Given the description of an element on the screen output the (x, y) to click on. 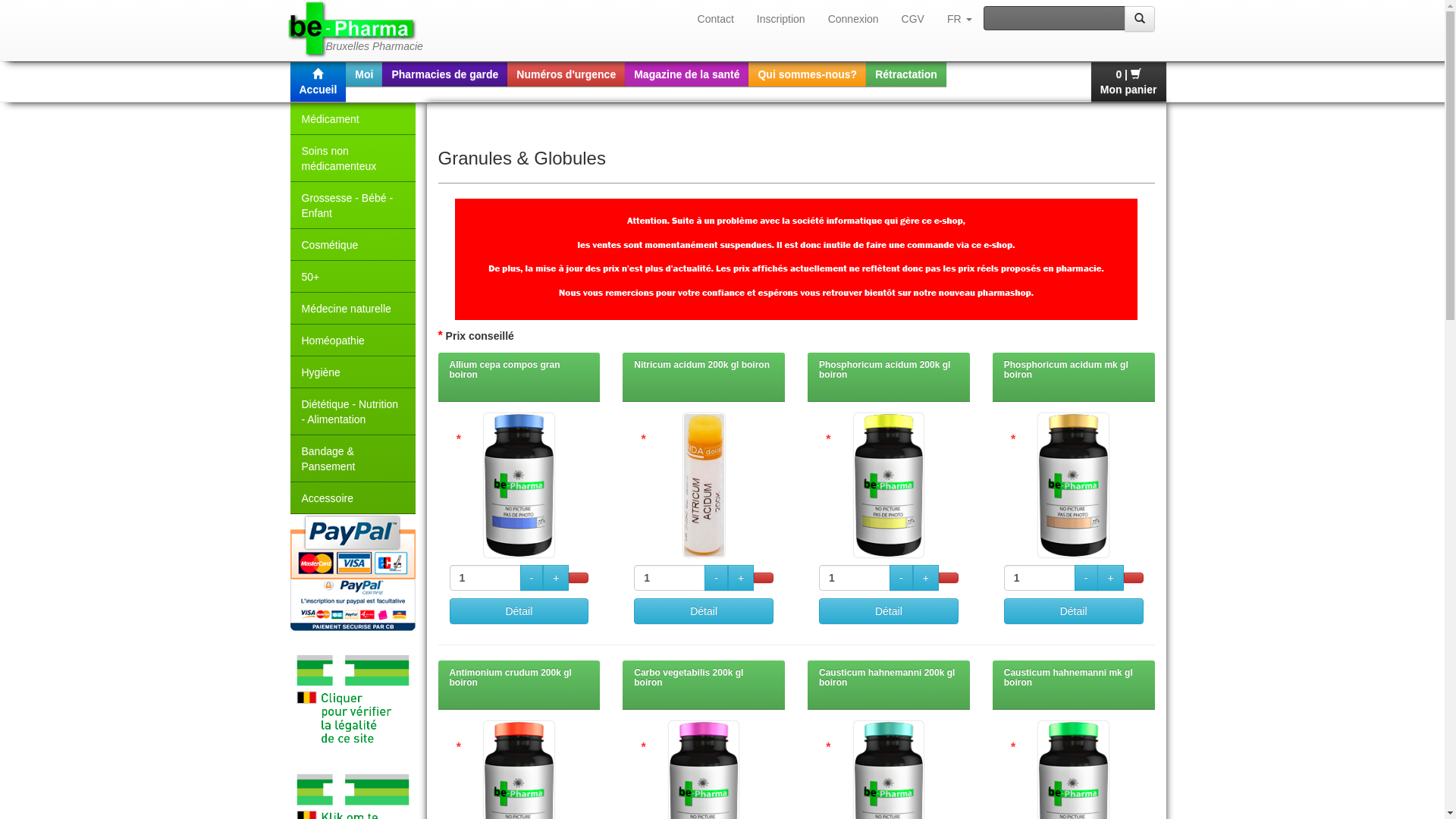
Ajout du produit	PHOSPHORICUM ACIDUM    200K GL BOIRON Element type: hover (948, 577)
PHOSPHORICUM ACIDUM      MK GL BOIRON Element type: hover (1072, 485)
+ Element type: text (555, 577)
Ajout du produit	PHOSPHORICUM ACIDUM      MK GL BOIRON Element type: hover (1133, 577)
- Element type: text (1086, 577)
FR Element type: text (959, 18)
PHOSPHORICUM ACIDUM    200K GL BOIRON Element type: hover (888, 485)
Bioderma Element type: hover (795, 219)
+ Element type: text (740, 577)
PayPpal Element type: hover (351, 573)
50+ Element type: text (351, 276)
Moi Element type: text (363, 74)
ALLIUM CEPA COMPOS   GRAN      BOIRON Element type: hover (518, 485)
NITRICUM ACIDUM        200K GL BOIRON Element type: hover (703, 485)
Be-Pharma Element type: hover (353, 30)
+ Element type: text (925, 577)
CGV Element type: text (912, 18)
Ajout du produit	NITRICUM ACIDUM        200K GL BOIRON Element type: hover (763, 577)
Connexion Element type: text (853, 18)
Accessoire Element type: text (351, 498)
+ Element type: text (1110, 577)
Certification Element type: hover (351, 700)
Qui sommes-nous? Element type: text (807, 74)
- Element type: text (531, 577)
Inscription Element type: text (780, 18)
- Element type: text (901, 577)
Bioderma Element type: hover (796, 259)
Bruxelles Pharmacie Element type: text (349, 30)
- Element type: text (716, 577)
0 |
Mon panier Element type: text (1128, 81)
Contact Element type: text (715, 18)
Pharmacies de garde Element type: text (444, 74)
Ajout du produit	ALLIUM CEPA COMPOS   GRAN      BOIRON Element type: hover (578, 577)
Bandage & Pansement Element type: text (351, 458)
Accueil Element type: text (317, 81)
